Given the description of an element on the screen output the (x, y) to click on. 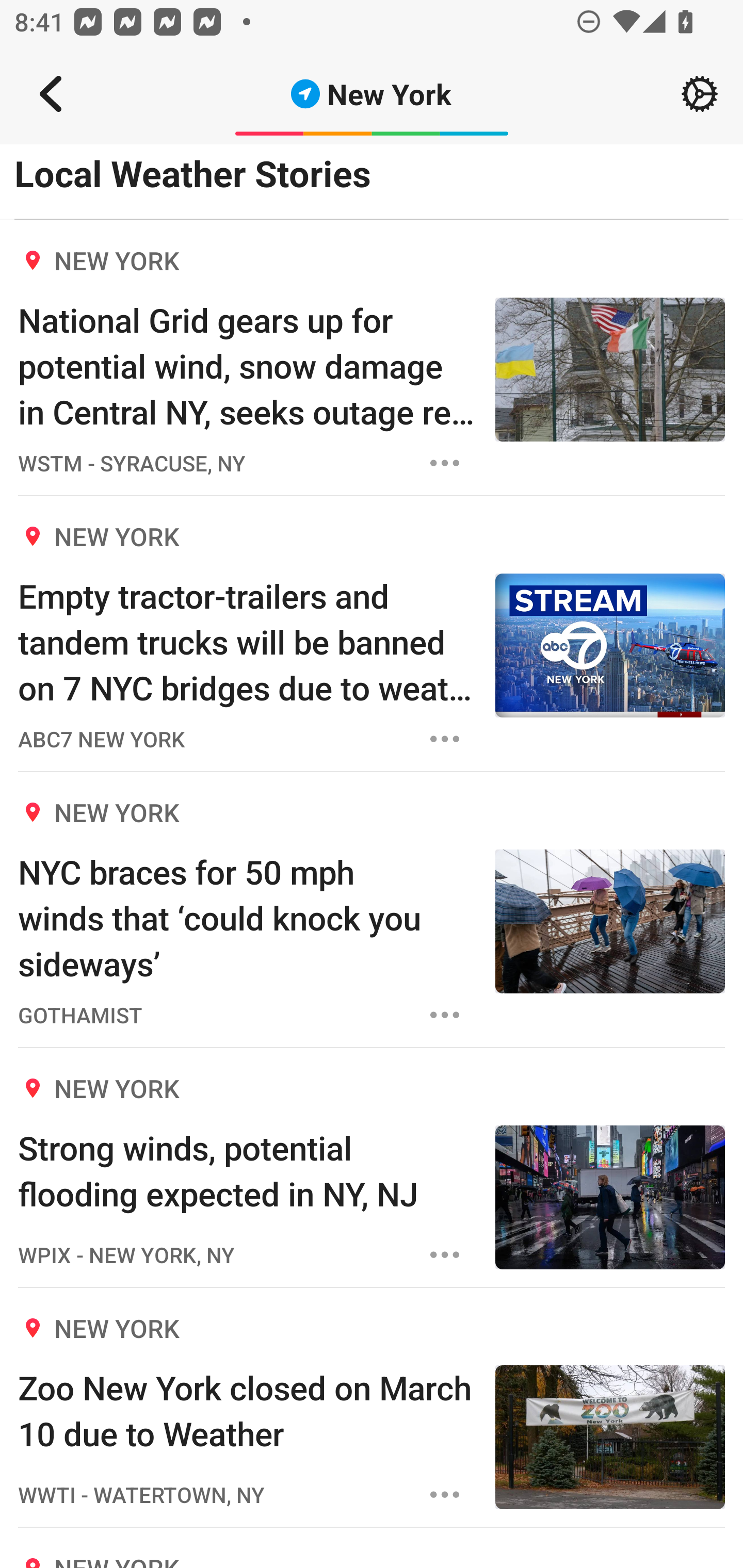
Navigate up (50, 93)
Setting (699, 93)
Options (444, 463)
Options (444, 739)
Options (444, 1015)
Options (444, 1255)
Options (444, 1494)
